Given the description of an element on the screen output the (x, y) to click on. 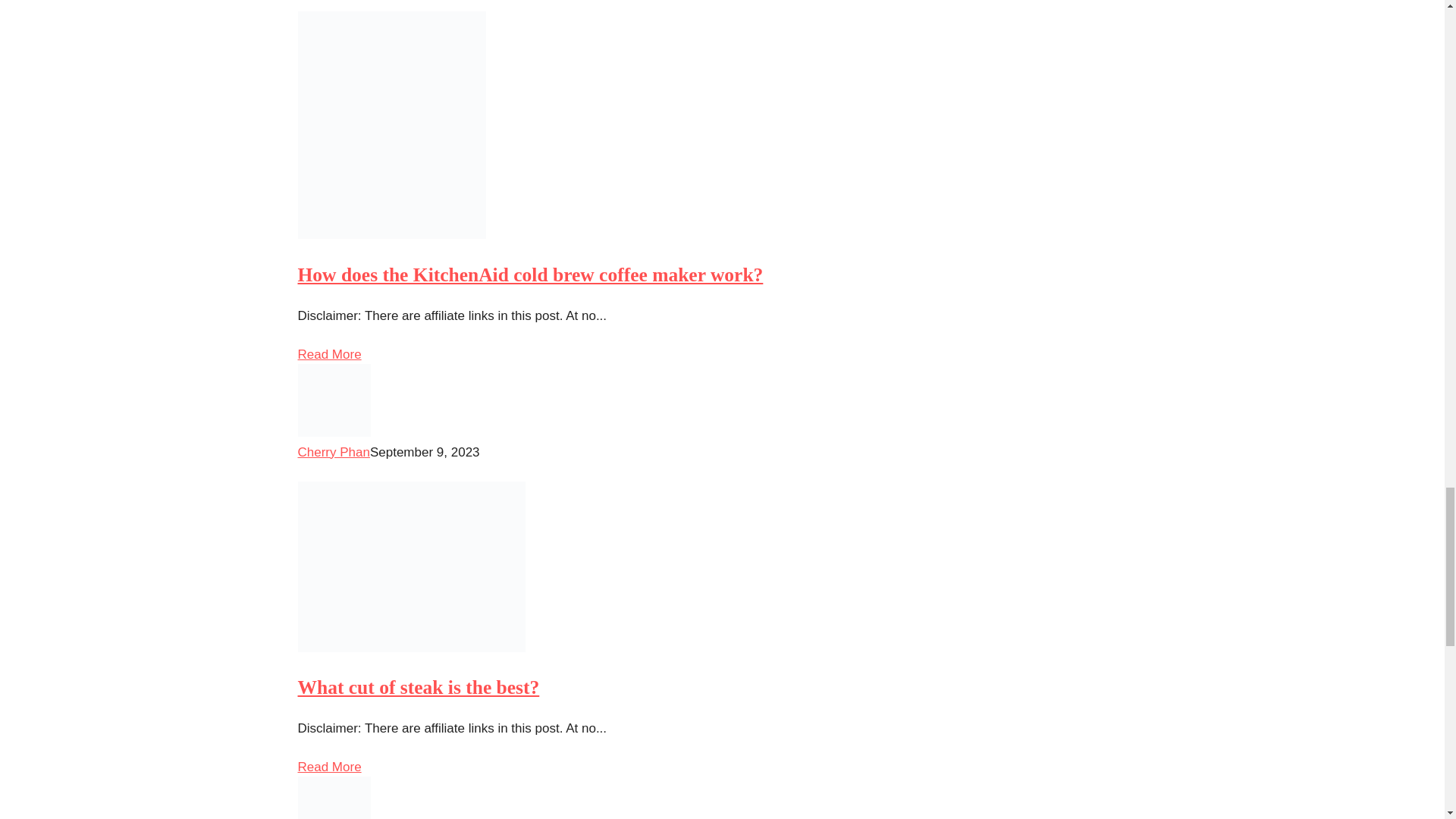
Posts by Cherry Phan (333, 452)
How does the KitchenAid cold brew coffee maker work? (529, 274)
What cut of steak is the best? (417, 687)
